Given the description of an element on the screen output the (x, y) to click on. 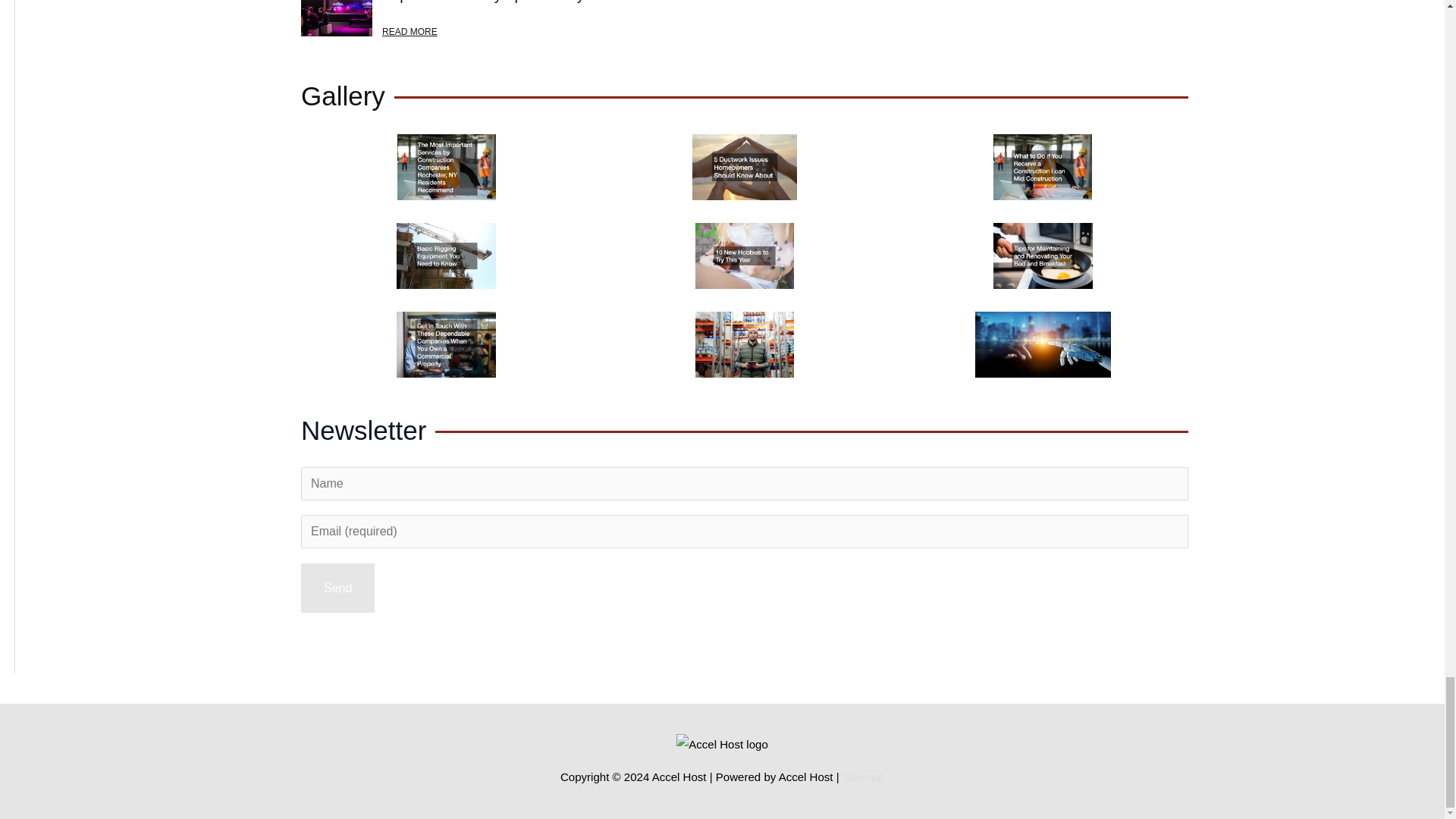
Send (337, 588)
